Given the description of an element on the screen output the (x, y) to click on. 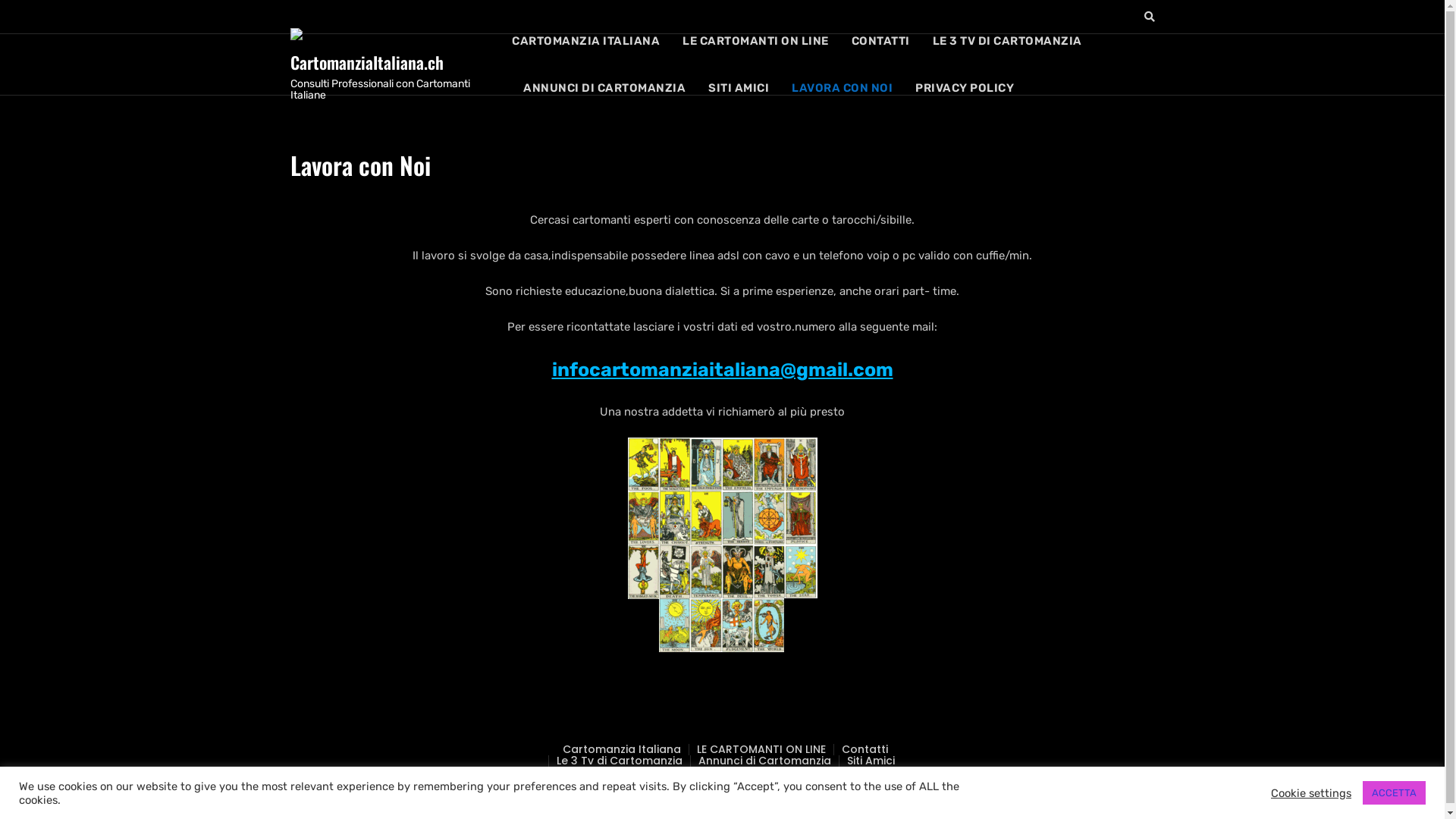
LAVORA CON NOI Element type: text (841, 88)
LE CARTOMANTI ON LINE Element type: text (755, 40)
CARTOMANZIA ITALIANA Element type: text (591, 40)
Cookie settings Element type: text (1310, 792)
Privacy Policy Element type: text (774, 772)
ANNUNCI DI CARTOMANZIA Element type: text (603, 88)
Contatti Element type: text (864, 748)
Cartomanzia Italiana Element type: text (621, 748)
ACCETTA Element type: text (1393, 792)
CONTATTI Element type: text (880, 40)
LE 3 TV DI CARTOMANZIA Element type: text (1006, 40)
infocartomanziaitaliana@gmail.com Element type: text (722, 369)
Lavora con Noi Element type: text (680, 772)
LE CARTOMANTI ON LINE Element type: text (760, 748)
SITI AMICI Element type: text (738, 88)
Le 3 Tv di Cartomanzia Element type: text (619, 760)
Annunci di Cartomanzia Element type: text (764, 760)
Bosa Themes Element type: text (849, 791)
CartomanziaItaliana.ch Element type: text (365, 62)
Siti Amici Element type: text (870, 760)
PRIVACY POLICY Element type: text (964, 88)
